Given the description of an element on the screen output the (x, y) to click on. 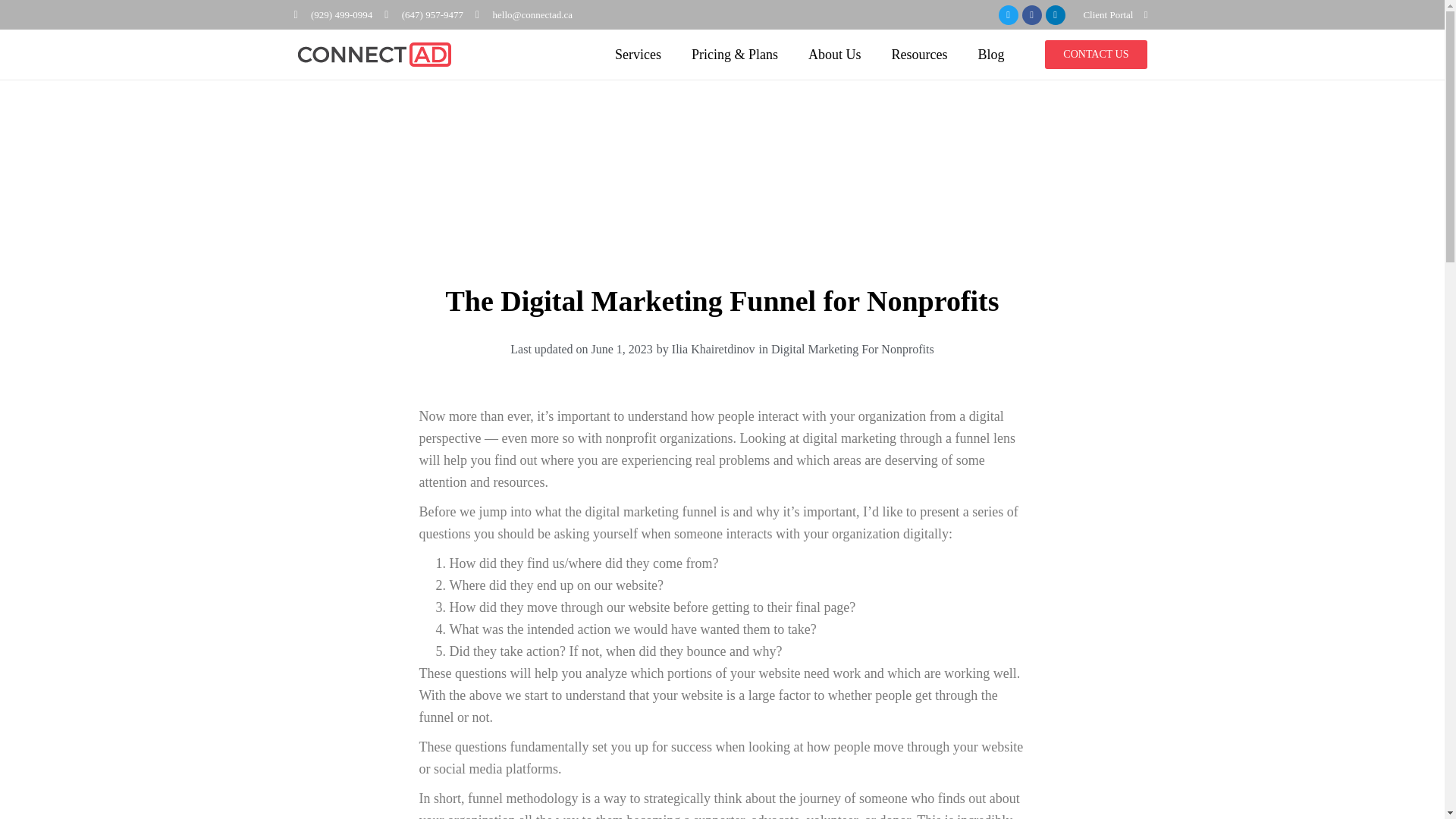
Services (638, 54)
Blog (990, 54)
Client Portal (1107, 14)
Resources (919, 54)
About Us (834, 54)
